Given the description of an element on the screen output the (x, y) to click on. 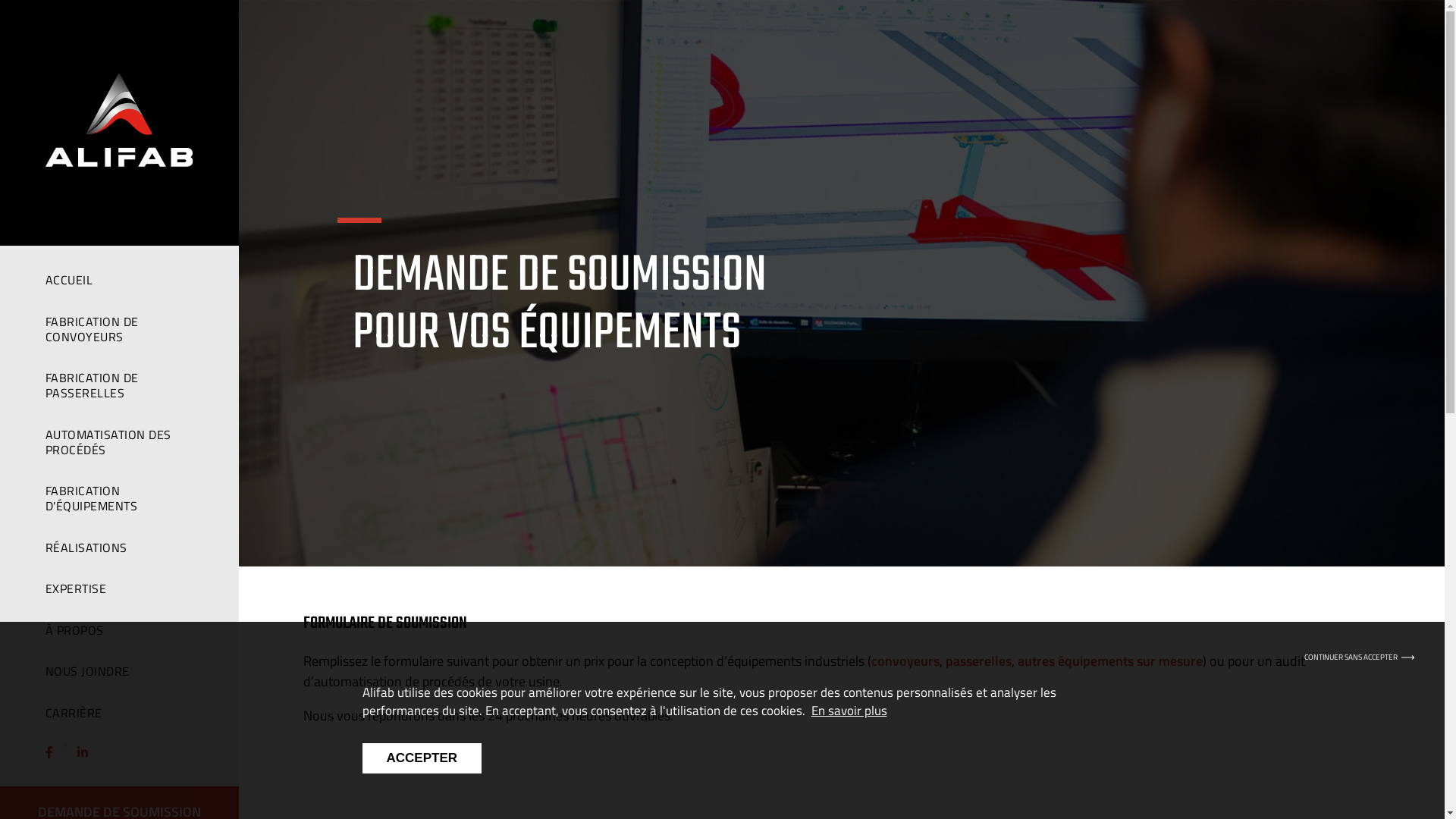
ACCEPTER Element type: text (422, 758)
FABRICATION DE CONVOYEURS Element type: text (119, 328)
convoyeurs Element type: text (905, 660)
NOUS JOINDRE Element type: text (119, 670)
EXPERTISE Element type: text (119, 588)
passerelles Element type: text (978, 660)
FABRICATION DE PASSERELLES Element type: text (119, 385)
ACCUEIL Element type: text (119, 279)
En savoir plus Element type: text (849, 710)
